Given the description of an element on the screen output the (x, y) to click on. 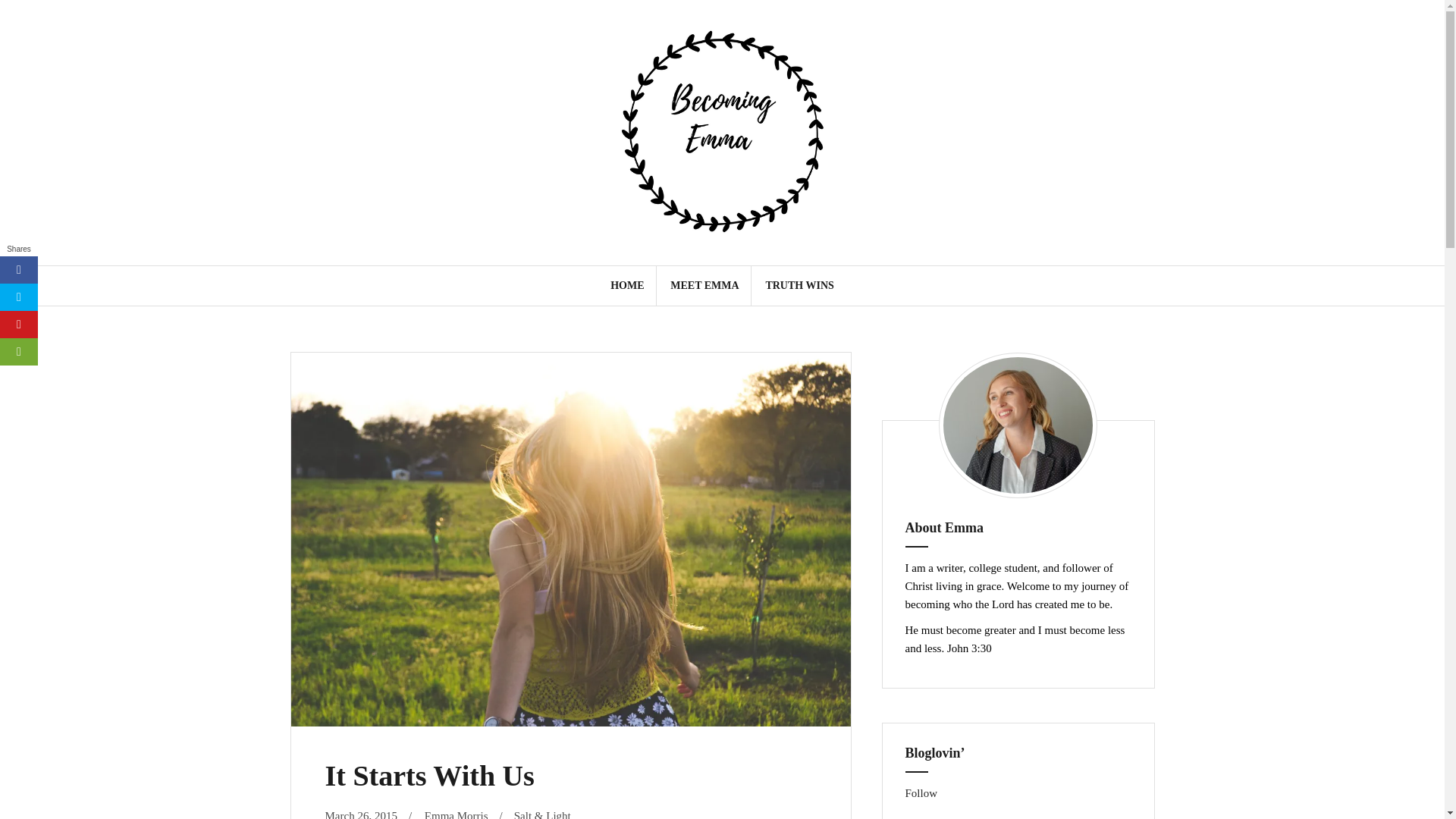
TRUTH WINS (798, 285)
March 26, 2015 (360, 814)
HOME (626, 285)
Follow (921, 793)
Emma Morris (456, 814)
MEET EMMA (703, 285)
